Given the description of an element on the screen output the (x, y) to click on. 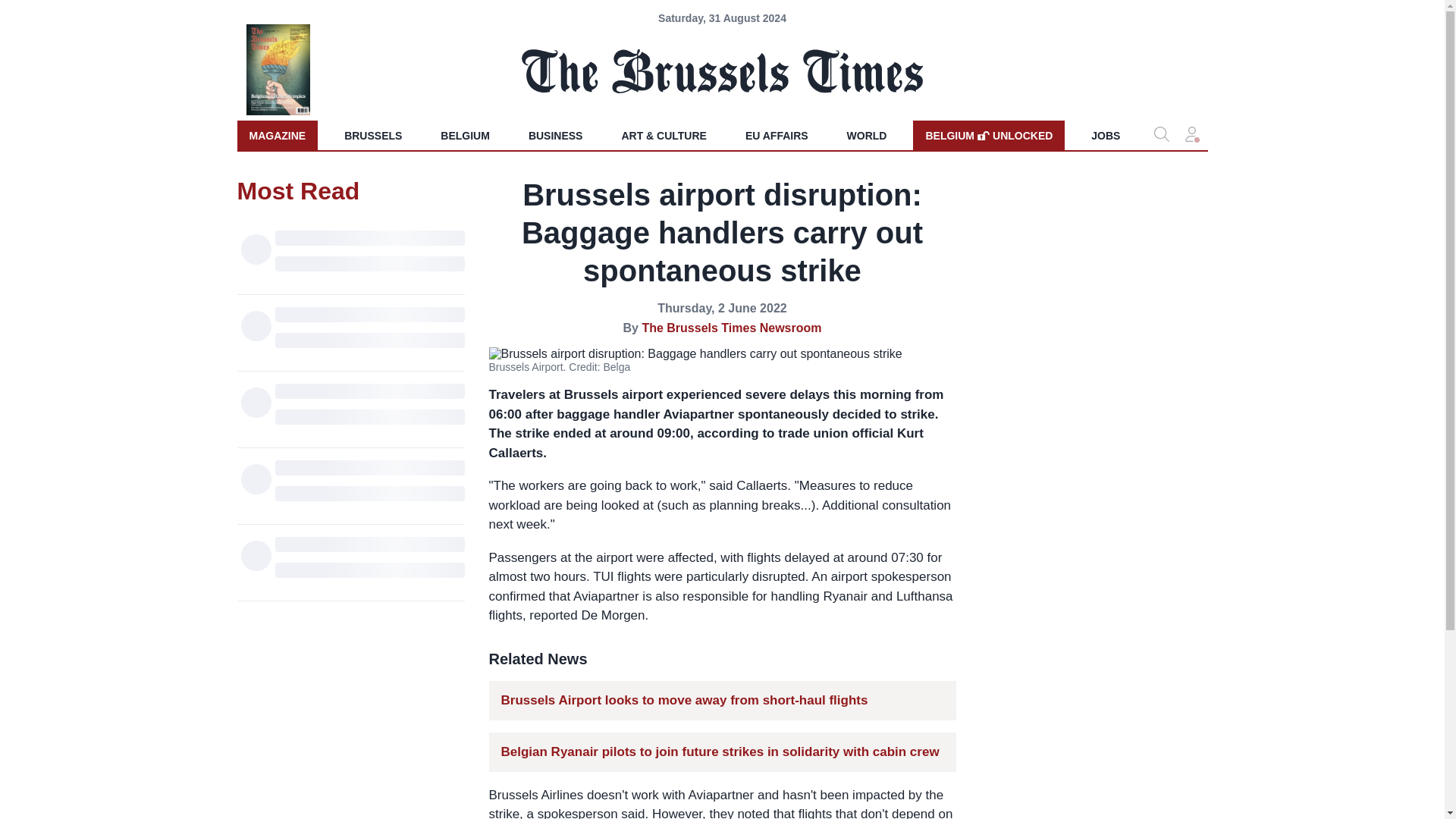
MAGAZINE (276, 135)
BRUSSELS (372, 135)
BELGIUM (988, 135)
JOBS (465, 135)
WORLD (1105, 135)
Brussels Airport looks to move away from short-haul flights (866, 135)
BUSINESS (683, 700)
EU AFFAIRS (555, 135)
